Given the description of an element on the screen output the (x, y) to click on. 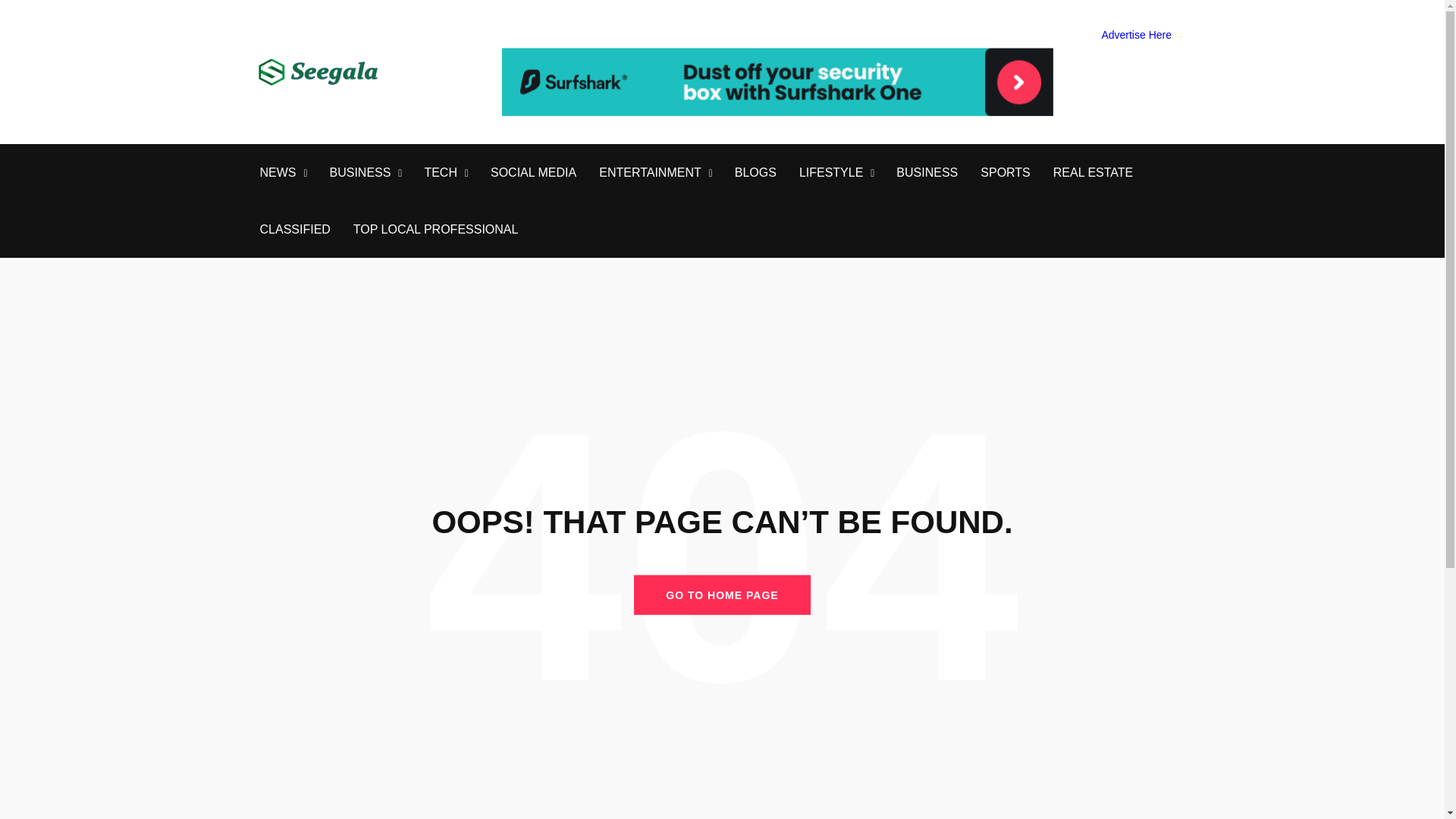
TECH (440, 172)
SPORTS (1004, 172)
BLOGS (755, 172)
NEWS (277, 172)
ENTERTAINMENT (649, 172)
REAL ESTATE (1093, 172)
BUSINESS (359, 172)
LIFESTYLE (831, 172)
BUSINESS (927, 172)
SOCIAL MEDIA (533, 172)
